Given the description of an element on the screen output the (x, y) to click on. 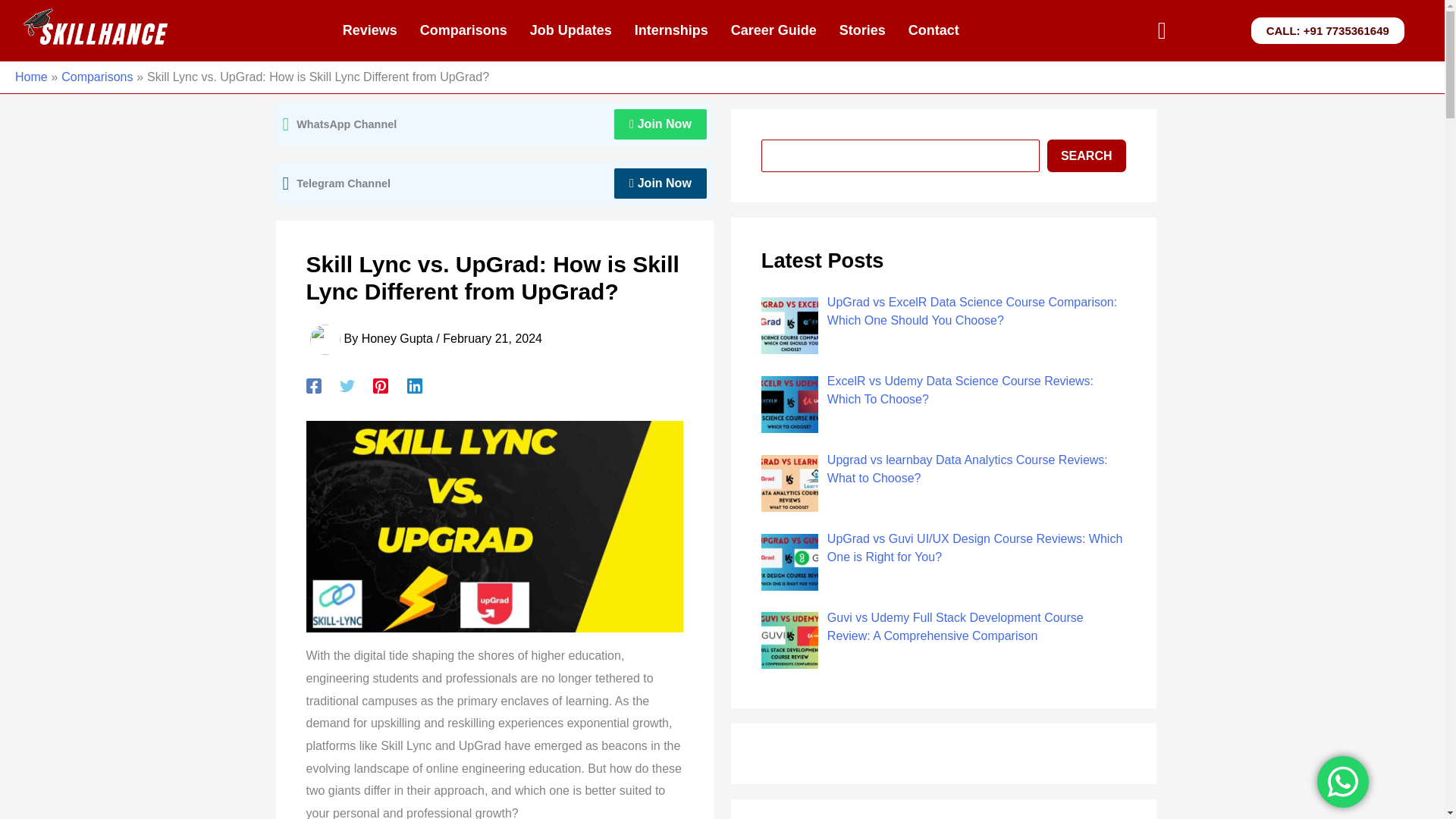
Reviews (370, 30)
Job Updates (570, 30)
Comparisons (96, 76)
Home (31, 76)
Join Now (660, 123)
Contact (933, 30)
Internships (671, 30)
Join Now (660, 183)
Career Guide (773, 30)
Stories (862, 30)
